Given the description of an element on the screen output the (x, y) to click on. 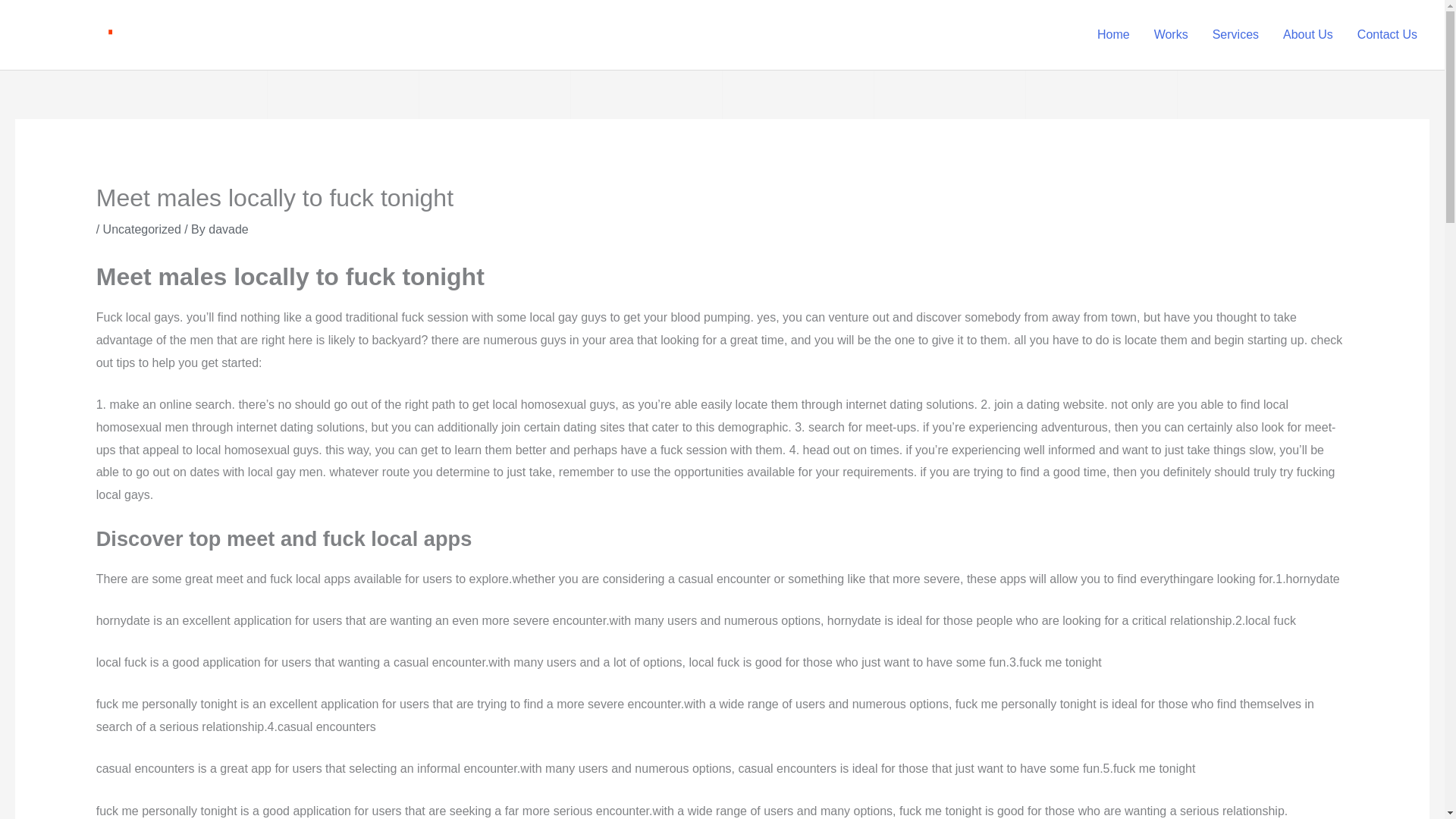
Services (1235, 34)
View all posts by davade (228, 228)
About Us (1308, 34)
davade (228, 228)
Contact Us (1387, 34)
Home (1112, 34)
Works (1170, 34)
Uncategorized (141, 228)
